Given the description of an element on the screen output the (x, y) to click on. 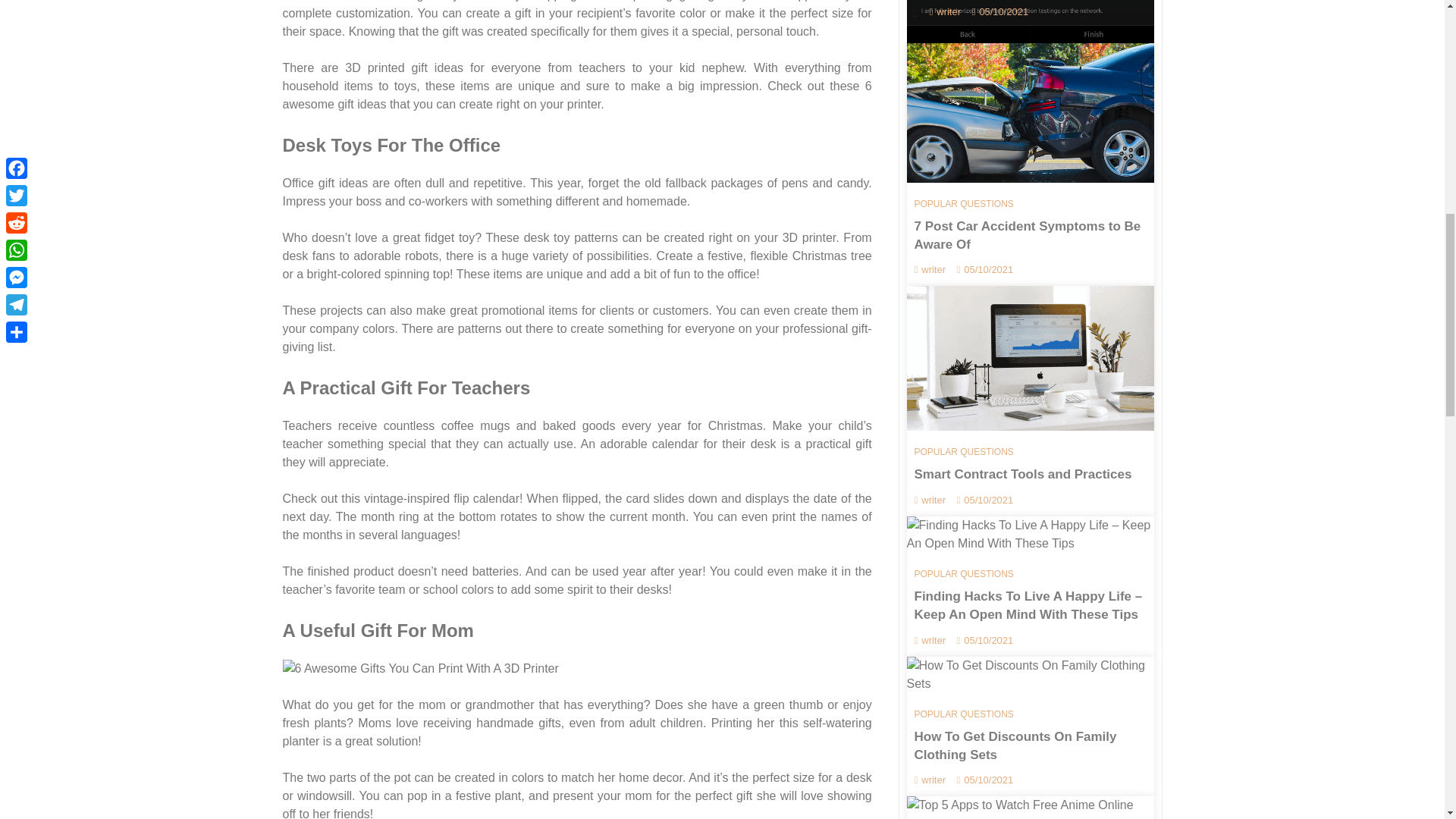
6 Awesome Gifts You Can Print With A 3D Printer (419, 669)
